Given the description of an element on the screen output the (x, y) to click on. 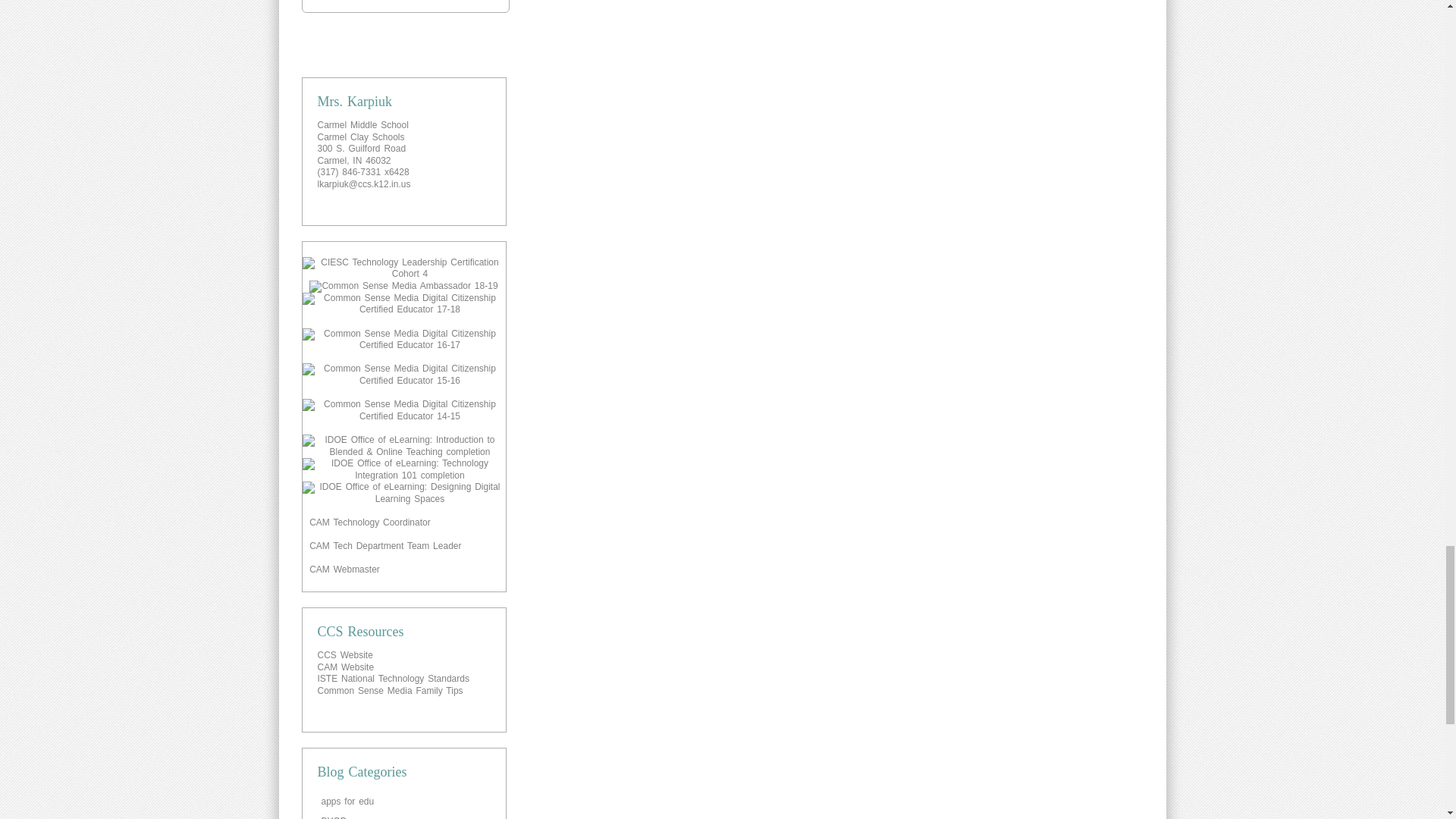
Carmel Middle School (362, 124)
Post Comment (405, 6)
Post Comment (405, 6)
